Given the description of an element on the screen output the (x, y) to click on. 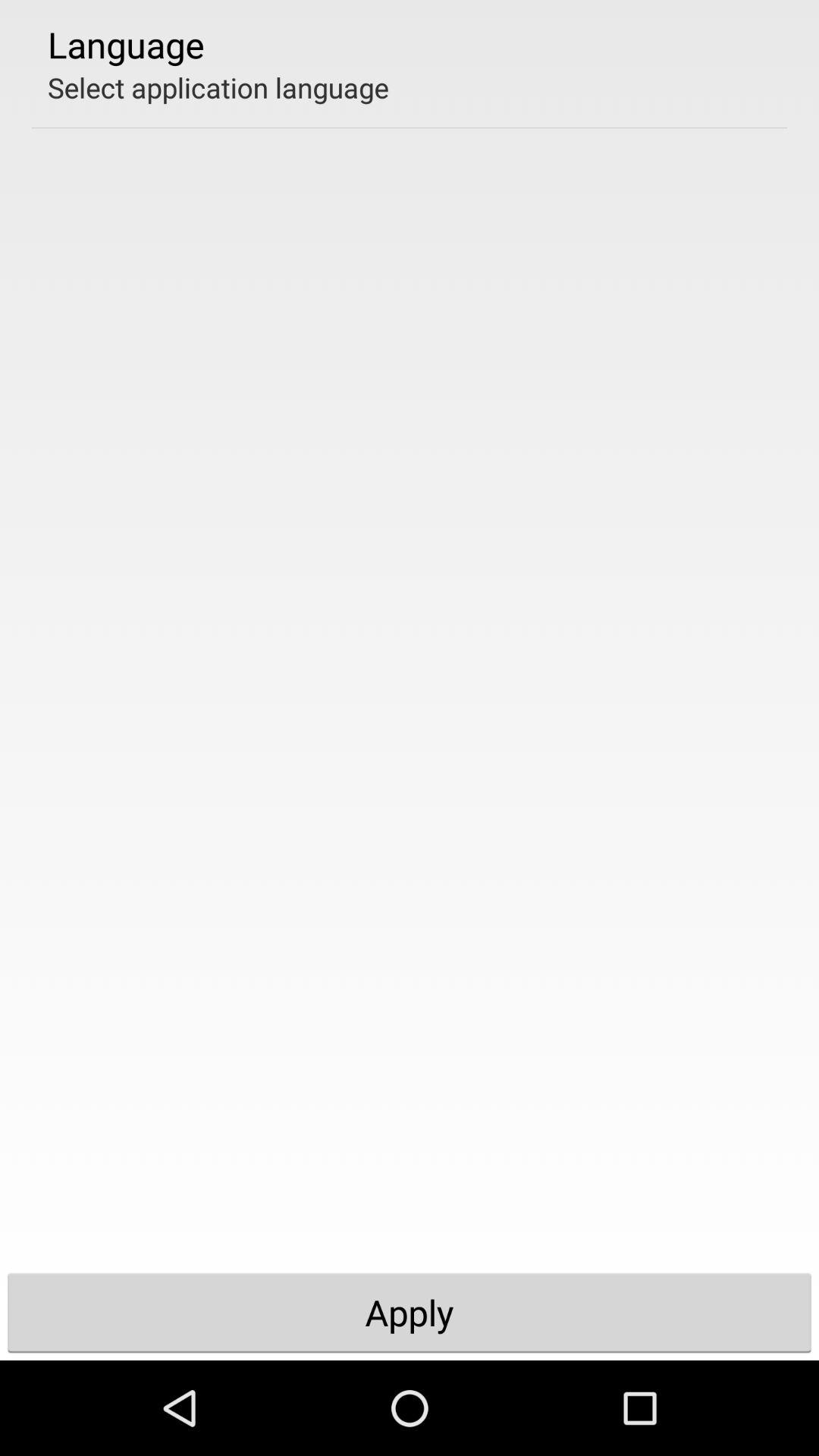
press item below select application language app (409, 1312)
